Given the description of an element on the screen output the (x, y) to click on. 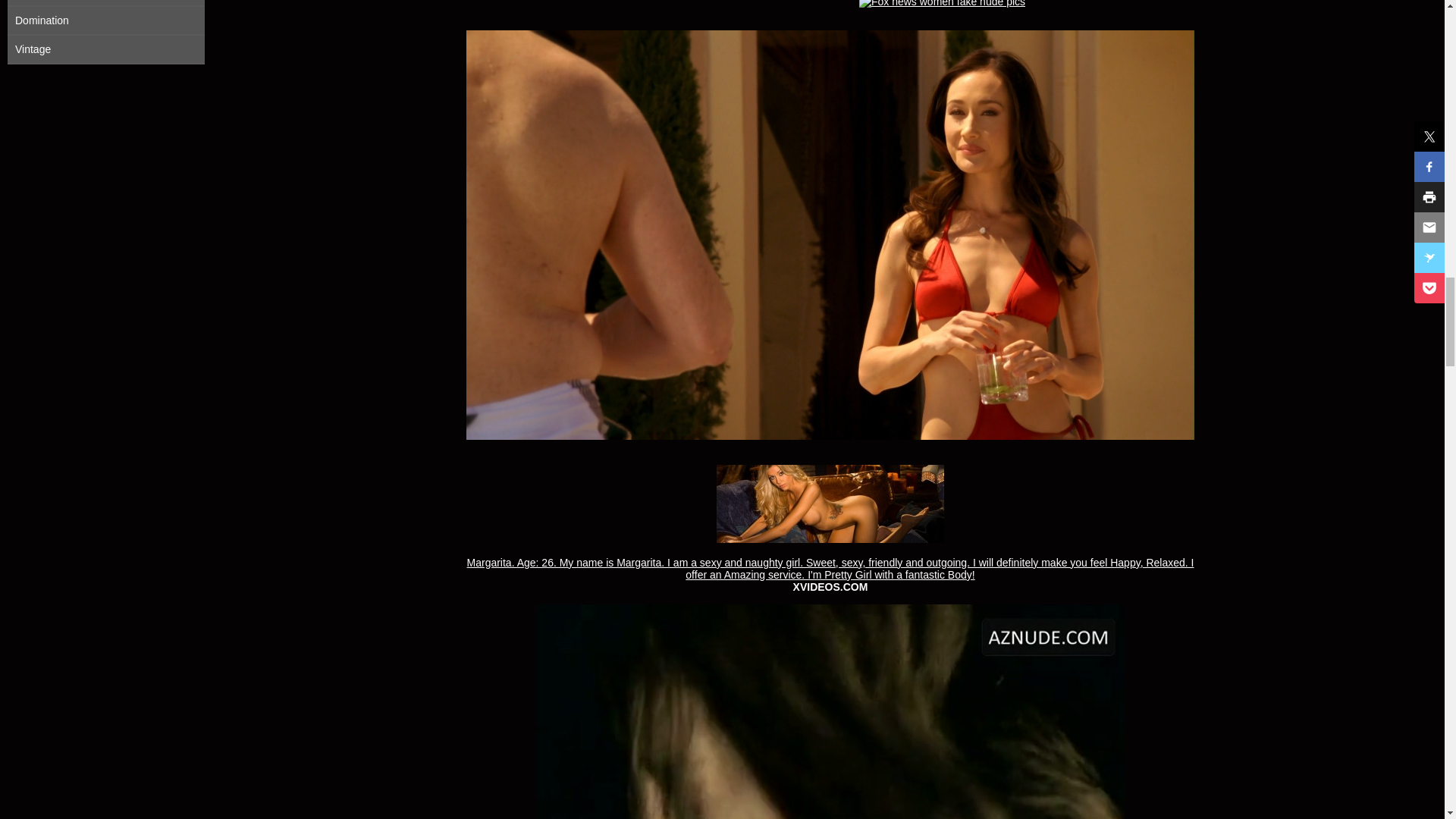
Pegging old man (829, 711)
Short hot mexican girls naked (942, 3)
